Given the description of an element on the screen output the (x, y) to click on. 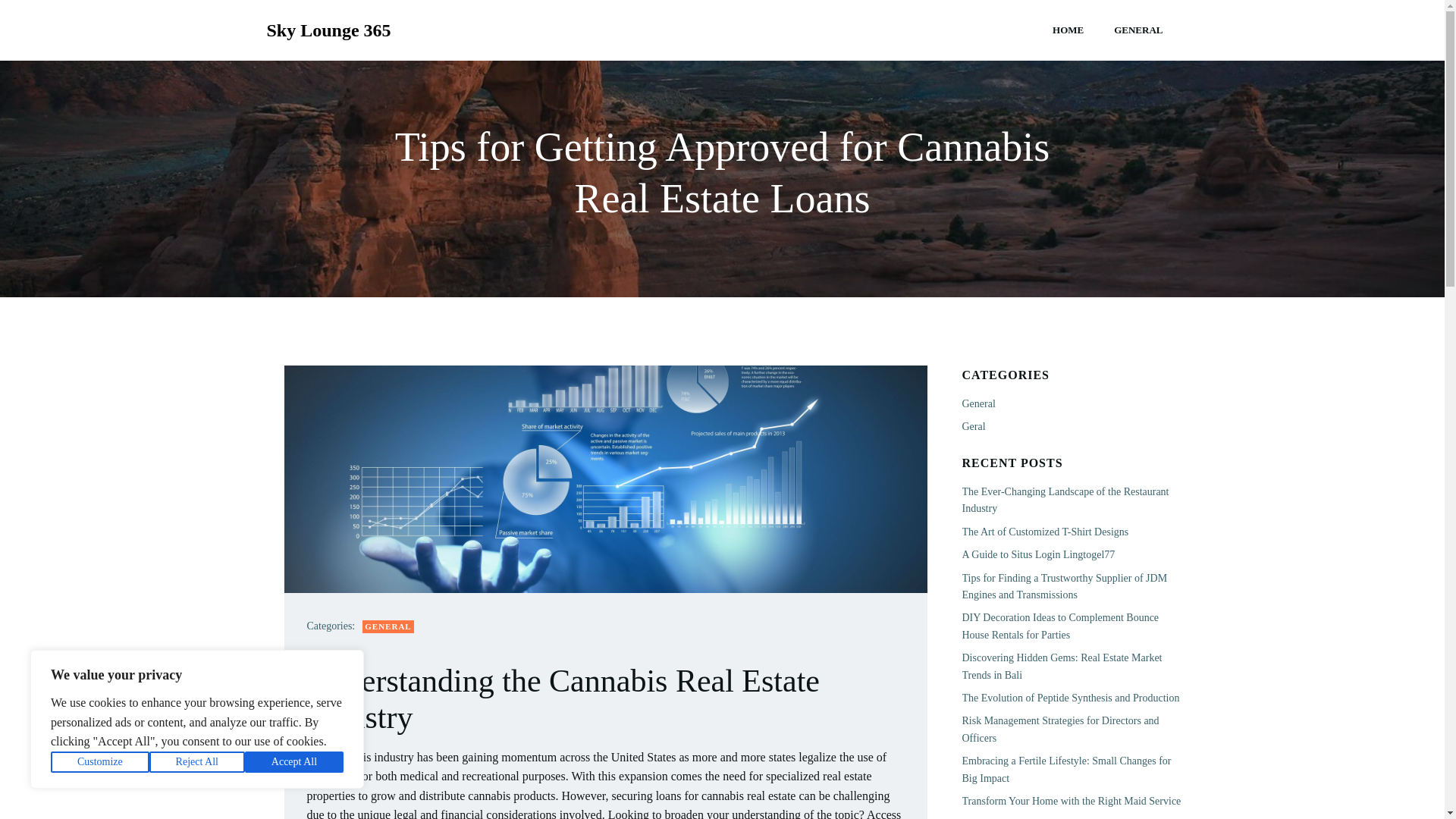
HOME (1067, 29)
Accept All (293, 762)
Customize (99, 762)
Reject All (196, 762)
General (977, 403)
Geral (972, 426)
GENERAL (1137, 29)
GENERAL (387, 626)
